Given the description of an element on the screen output the (x, y) to click on. 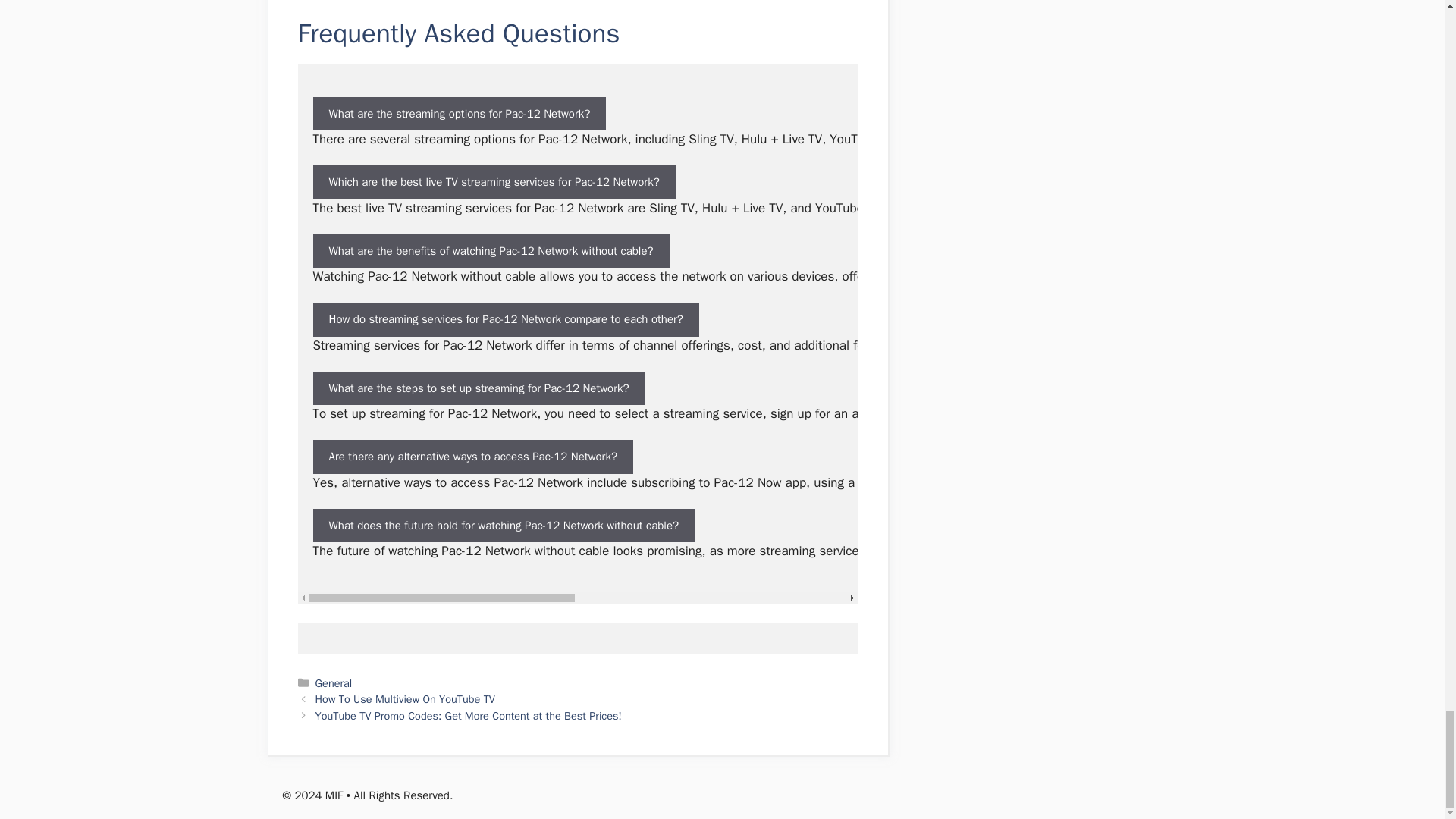
YouTube TV Promo Codes: Get More Content at the Best Prices! (468, 715)
How To Use Multiview On YouTube TV (405, 698)
Are there any alternative ways to access Pac-12 Network? (472, 456)
General (333, 683)
What are the streaming options for Pac-12 Network? (459, 114)
What are the steps to set up streaming for Pac-12 Network? (479, 388)
